Given the description of an element on the screen output the (x, y) to click on. 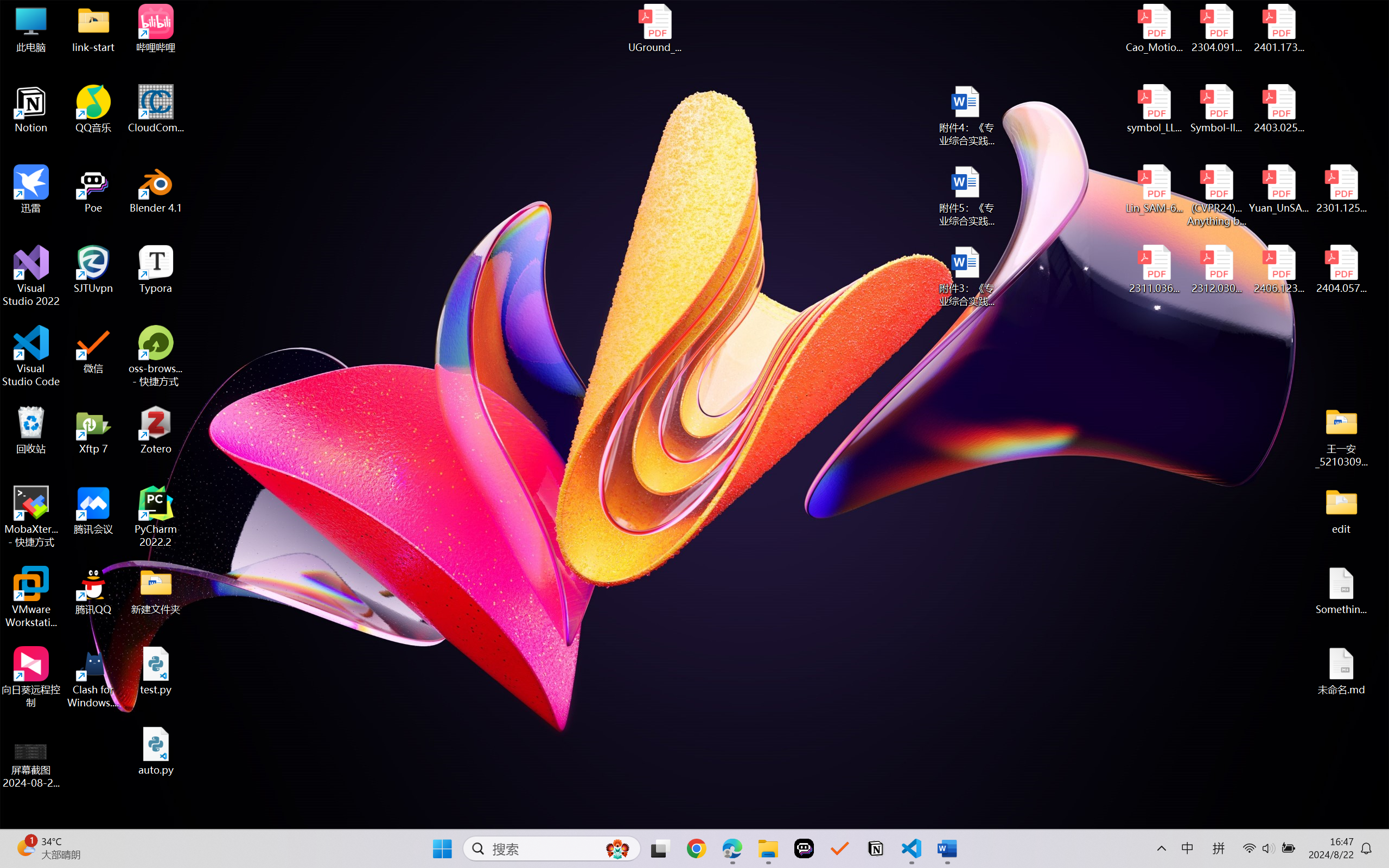
symbol_LLM.pdf (1154, 109)
2406.12373v2.pdf (1278, 269)
edit (1340, 510)
Visual Studio 2022 (31, 276)
2403.02502v1.pdf (1278, 109)
Visual Studio Code (31, 355)
